Given the description of an element on the screen output the (x, y) to click on. 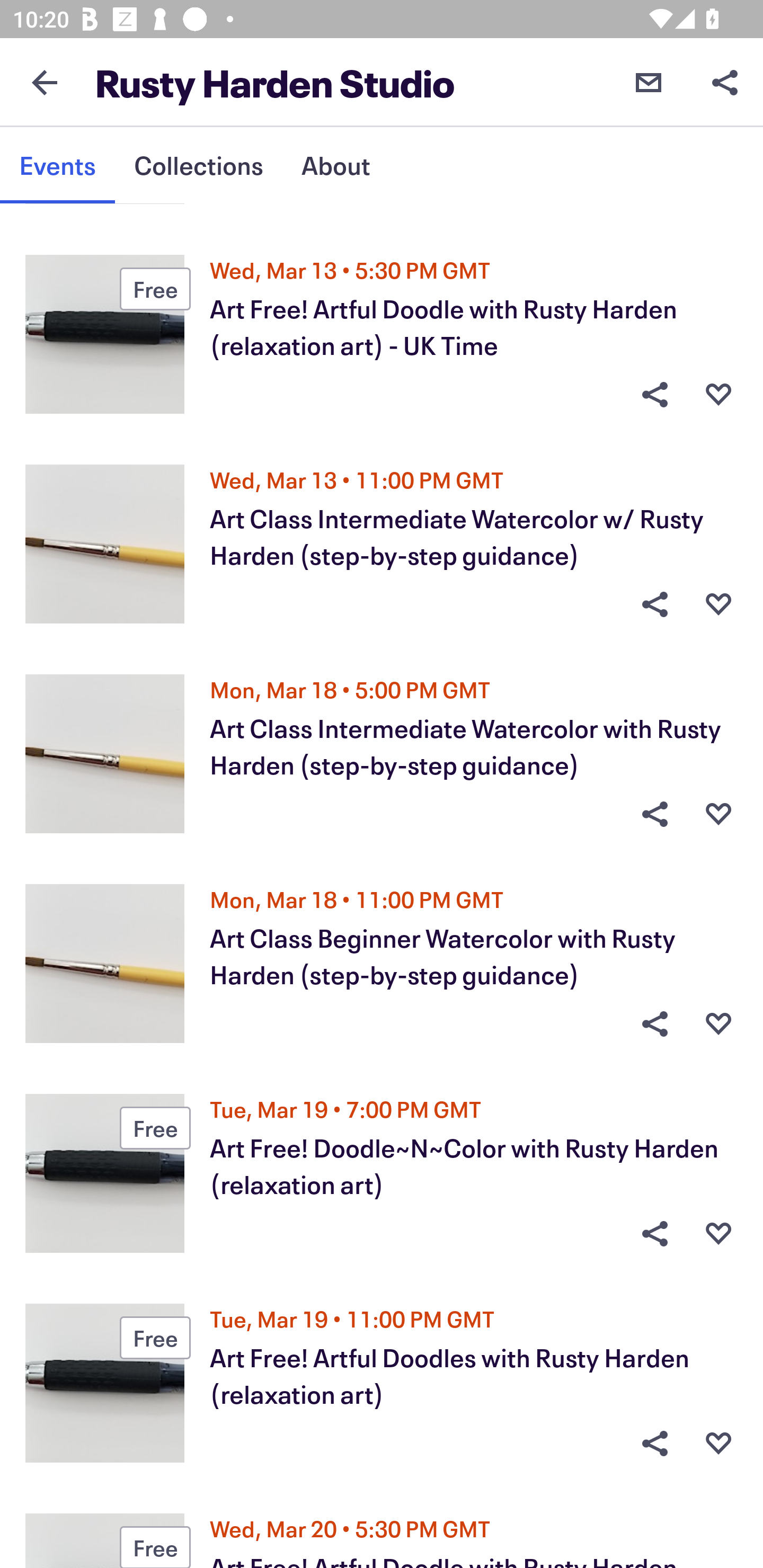
Navigate up (44, 82)
Contact (648, 81)
Share (724, 81)
Collections (198, 165)
About (335, 165)
Share Event (654, 394)
Like event (718, 394)
Share Event (654, 604)
Like event (718, 604)
Share Event (654, 813)
Like event (718, 813)
Share Event (654, 1023)
Like event (718, 1023)
Share Event (654, 1233)
Like event (718, 1233)
Share Event (654, 1442)
Like event (718, 1442)
